Given the description of an element on the screen output the (x, y) to click on. 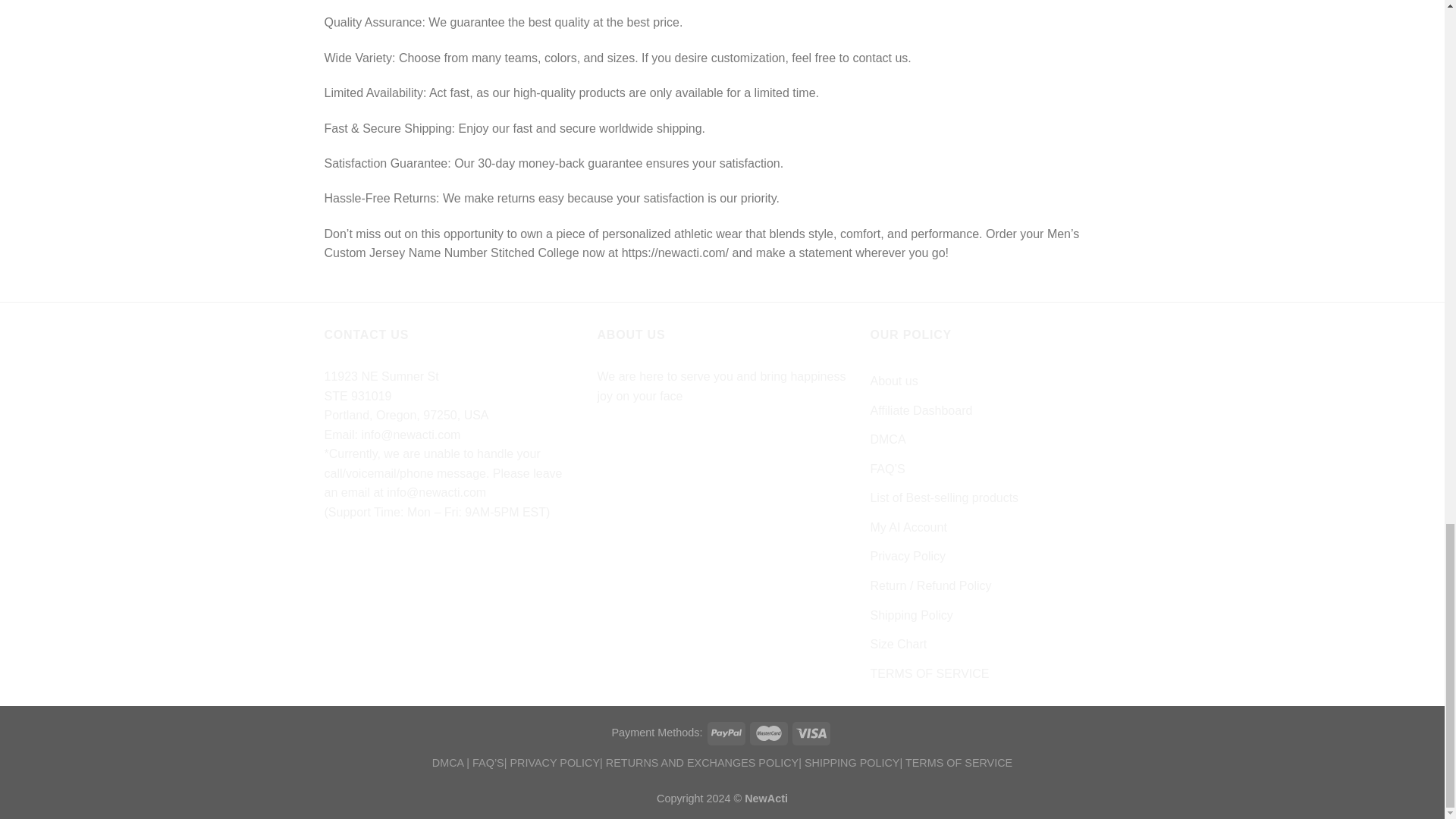
PRIVACY POLICY (554, 762)
SHIPPING POLICY (852, 762)
RETURNS AND EXCHANGES POLICY (701, 762)
DMCA (448, 762)
TERMS OF SERVICE (958, 762)
